Given the description of an element on the screen output the (x, y) to click on. 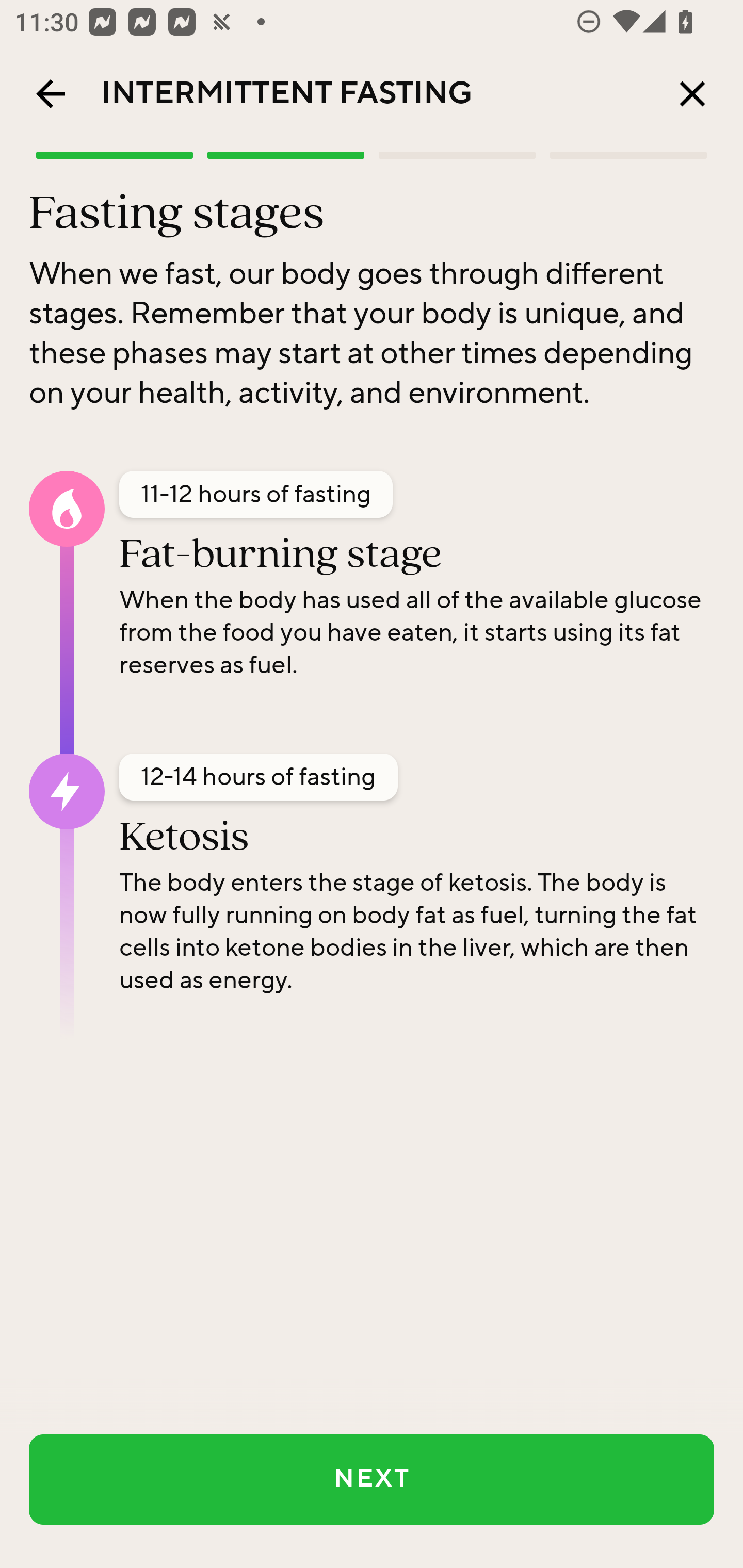
NEXT (371, 1479)
